Given the description of an element on the screen output the (x, y) to click on. 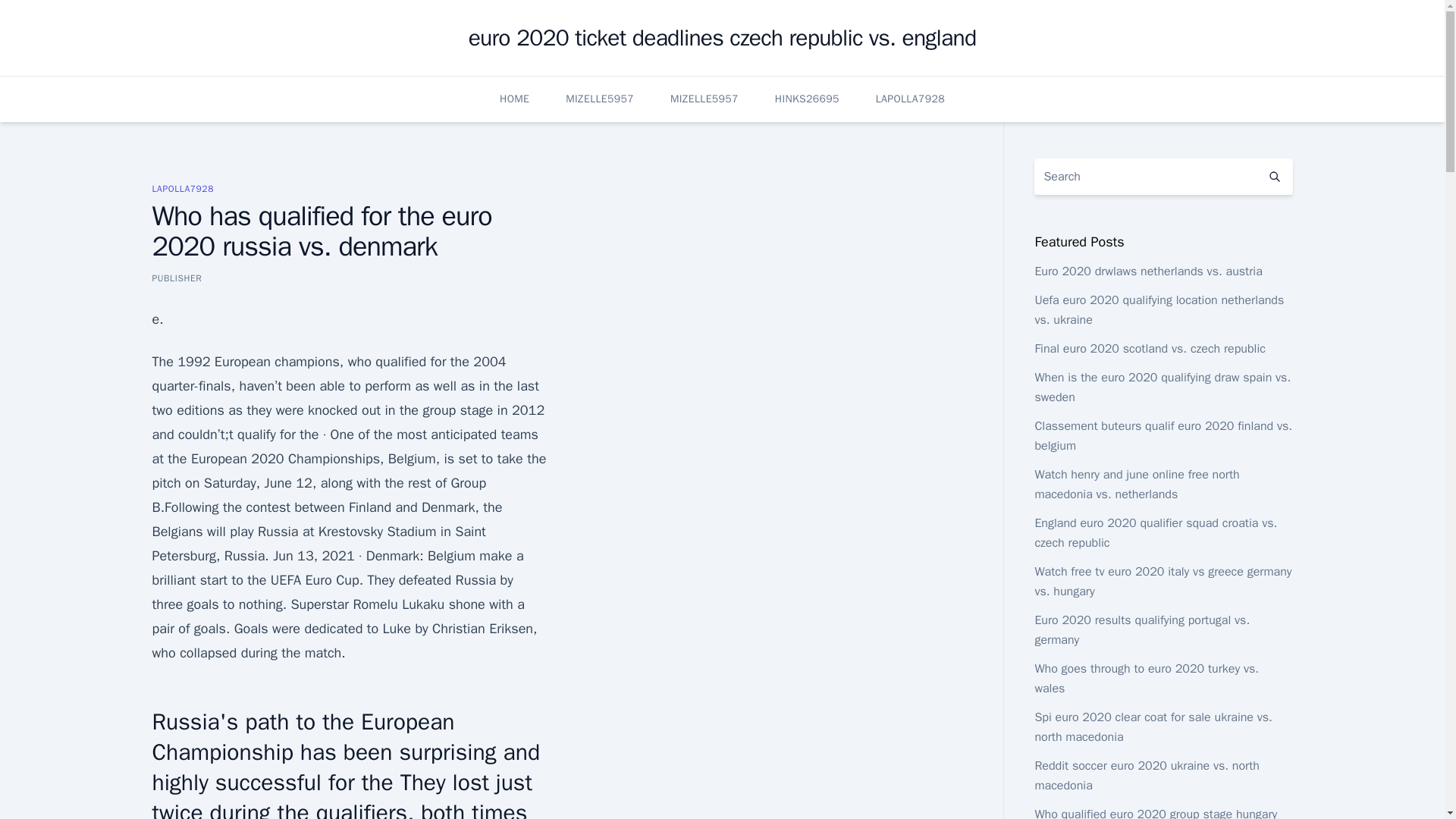
LAPOLLA7928 (910, 99)
MIZELLE5957 (599, 99)
Final euro 2020 scotland vs. czech republic (1149, 348)
Classement buteurs qualif euro 2020 finland vs. belgium (1162, 435)
LAPOLLA7928 (181, 188)
Uefa euro 2020 qualifying location netherlands vs. ukraine (1158, 309)
Euro 2020 drwlaws netherlands vs. austria (1147, 271)
HINKS26695 (807, 99)
euro 2020 ticket deadlines czech republic vs. england (722, 37)
